Given the description of an element on the screen output the (x, y) to click on. 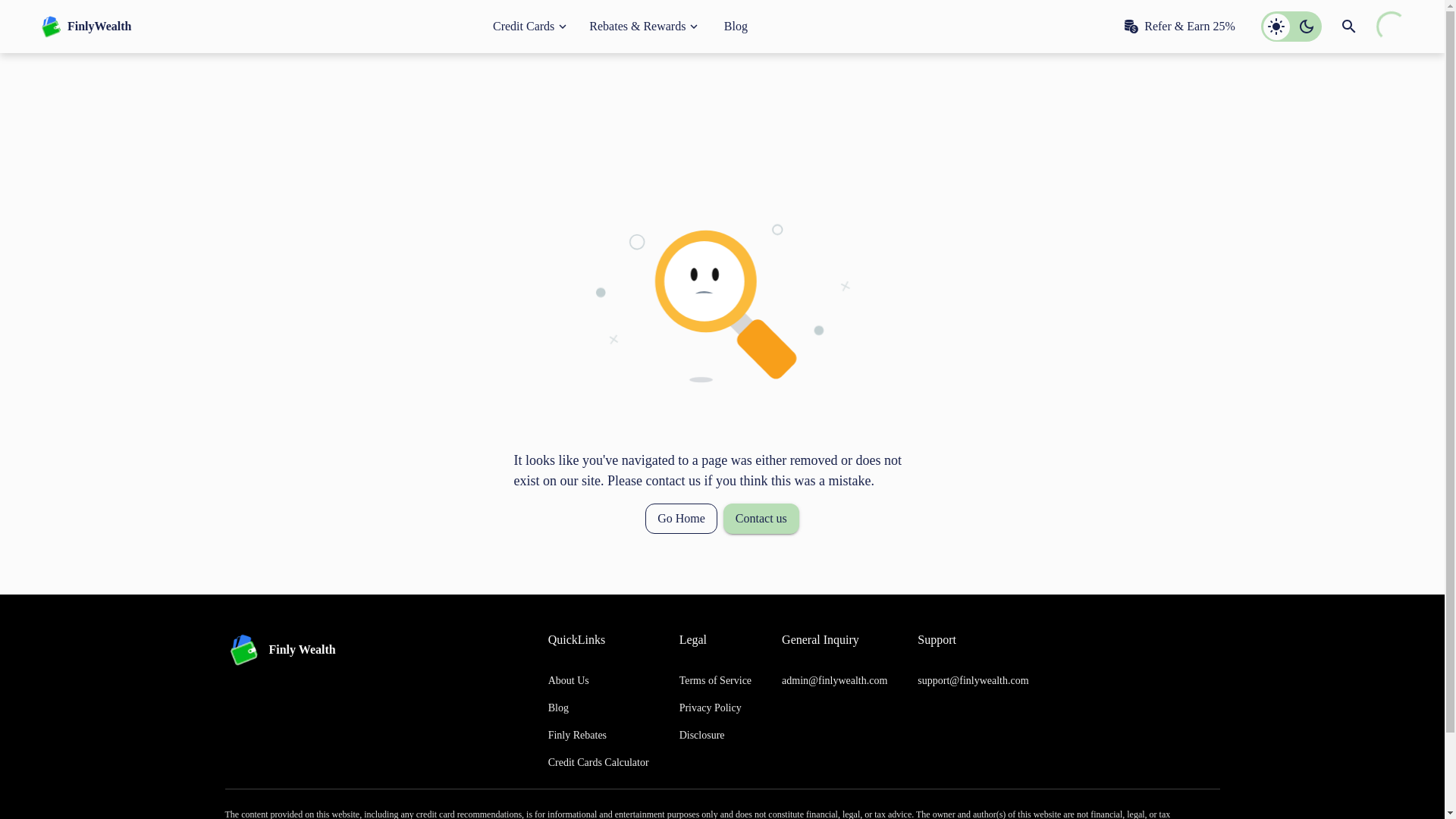
Finly Rebates (598, 735)
Privacy Policy (715, 708)
Credit Cards Calculator (598, 762)
Terms of Service (715, 680)
Credit Cards (529, 26)
About Us (598, 680)
Blog (598, 708)
Blog (735, 26)
Go Home (681, 518)
FinlyWealth (84, 26)
